Given the description of an element on the screen output the (x, y) to click on. 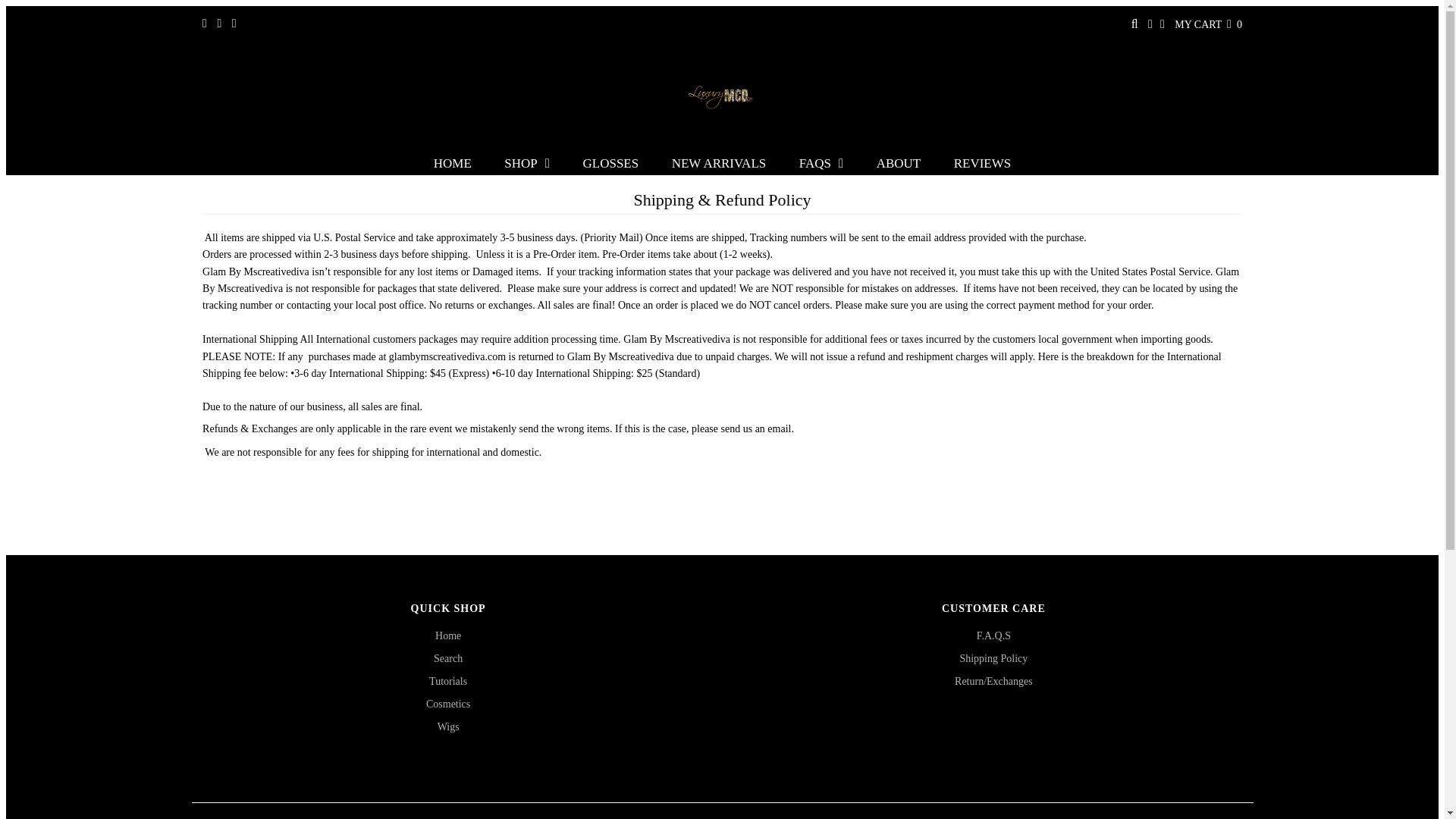
ABOUT (898, 163)
GLOSSES (610, 163)
Wigs (449, 726)
Search (448, 658)
Home (448, 635)
MY CART    0 (1207, 24)
Shipping Policy (993, 658)
Cosmetics (448, 704)
REVIEWS (982, 163)
Tutorials (448, 681)
